Given the description of an element on the screen output the (x, y) to click on. 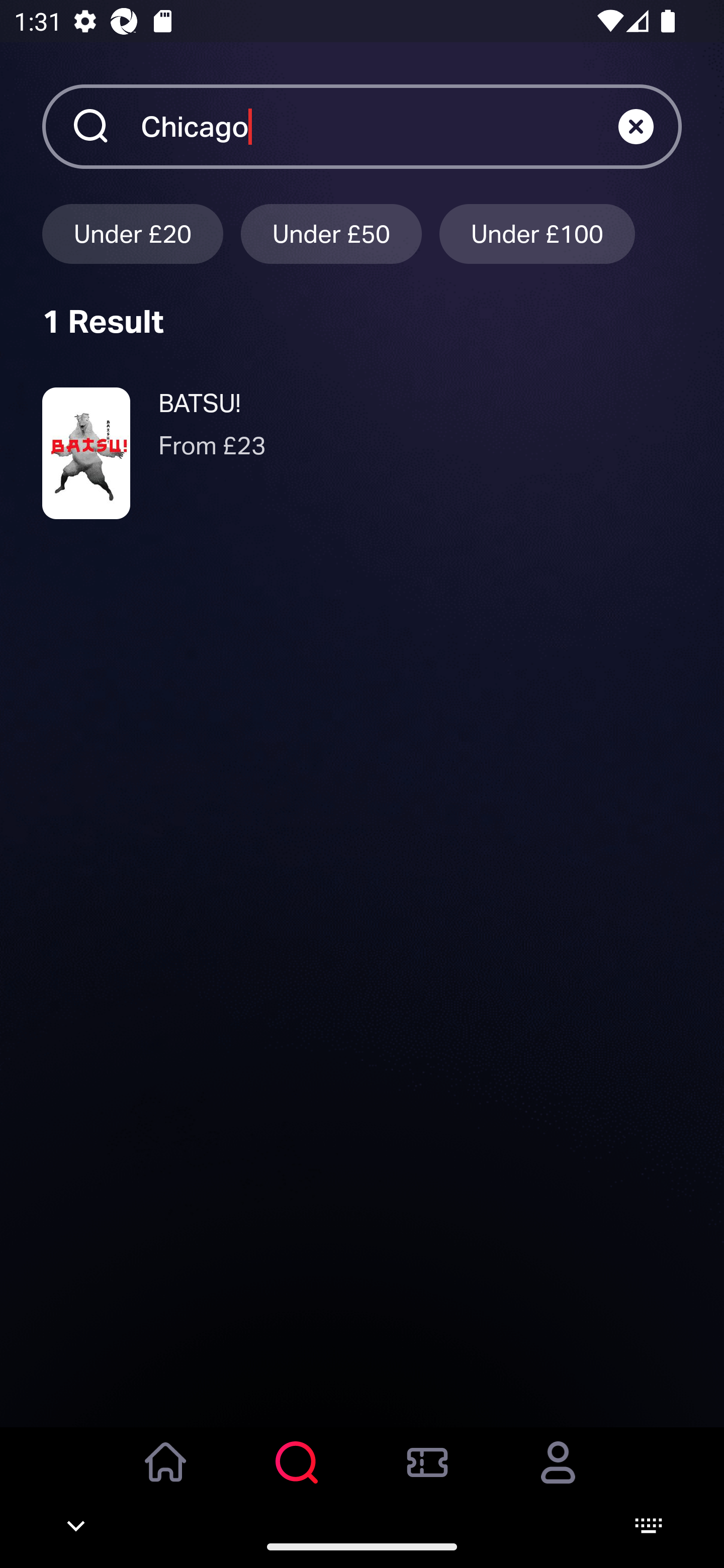
Chicago (379, 126)
Under £20 (131, 233)
Under £50 (331, 233)
Under £100 (536, 233)
BATSU! £23  BATSU! From £23 (361, 453)
Home (165, 1475)
Orders (427, 1475)
Account (558, 1475)
